Given the description of an element on the screen output the (x, y) to click on. 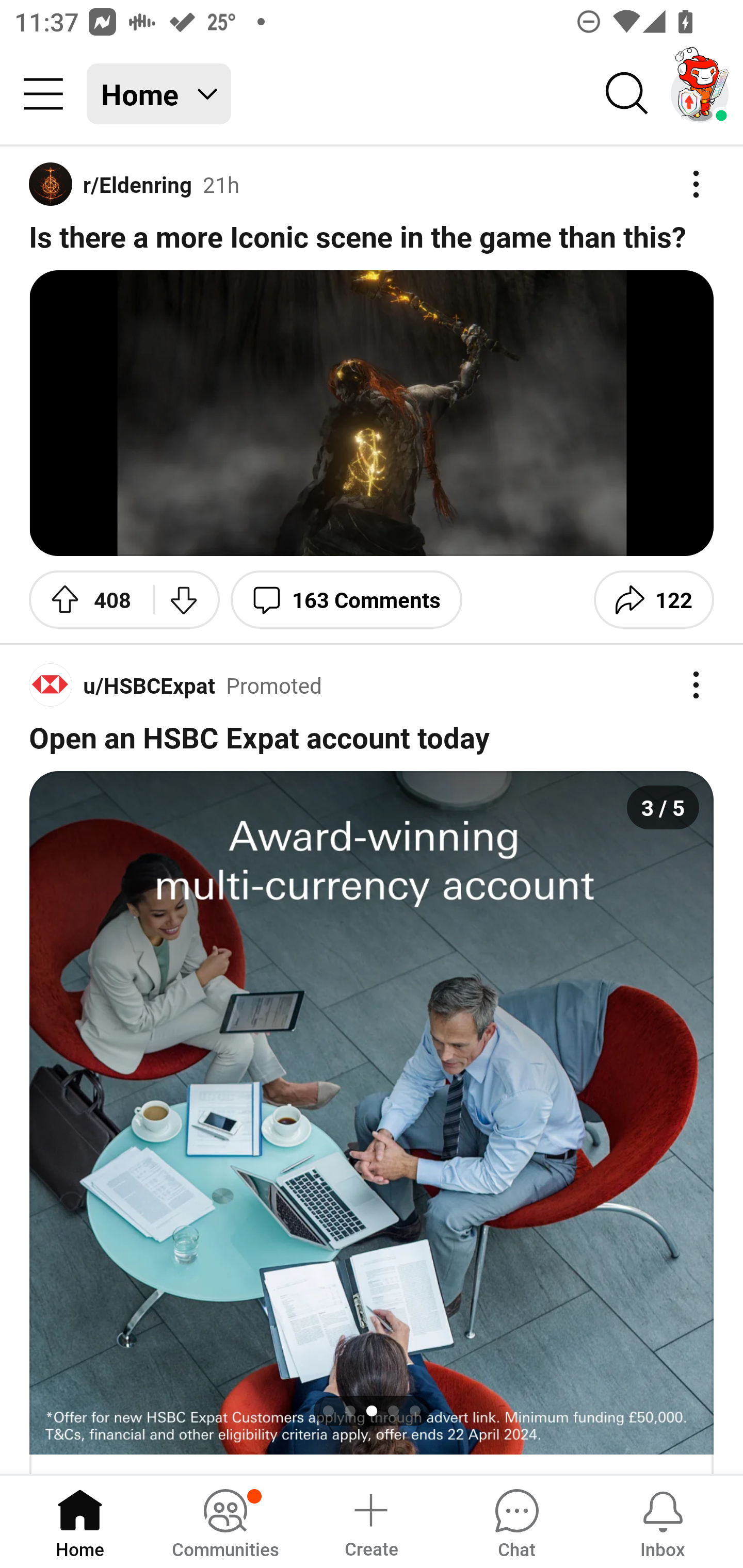
Community menu (43, 93)
Home Home feed (158, 93)
Search (626, 93)
TestAppium002 account (699, 93)
Image 3 of 5 (371, 1113)
Home (80, 1520)
Communities, has notifications Communities (225, 1520)
Create a post Create (370, 1520)
Chat (516, 1520)
Inbox (662, 1520)
